Given the description of an element on the screen output the (x, y) to click on. 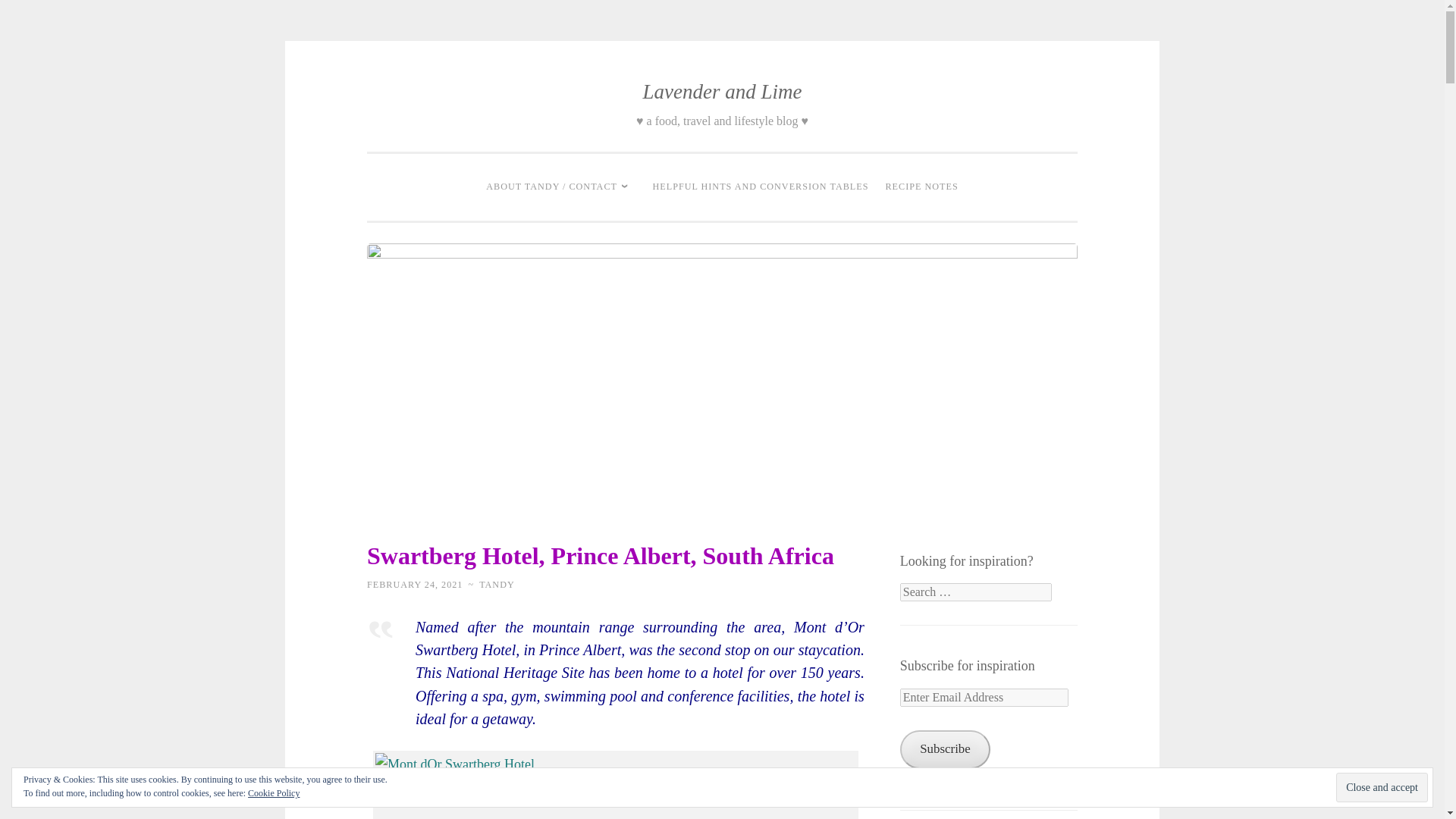
HELPFUL HINTS AND CONVERSION TABLES (761, 186)
Close and accept (1382, 787)
FEBRUARY 24, 2021 (414, 584)
RECIPE NOTES (920, 186)
Lavender and Lime (722, 91)
TANDY (497, 584)
